Given the description of an element on the screen output the (x, y) to click on. 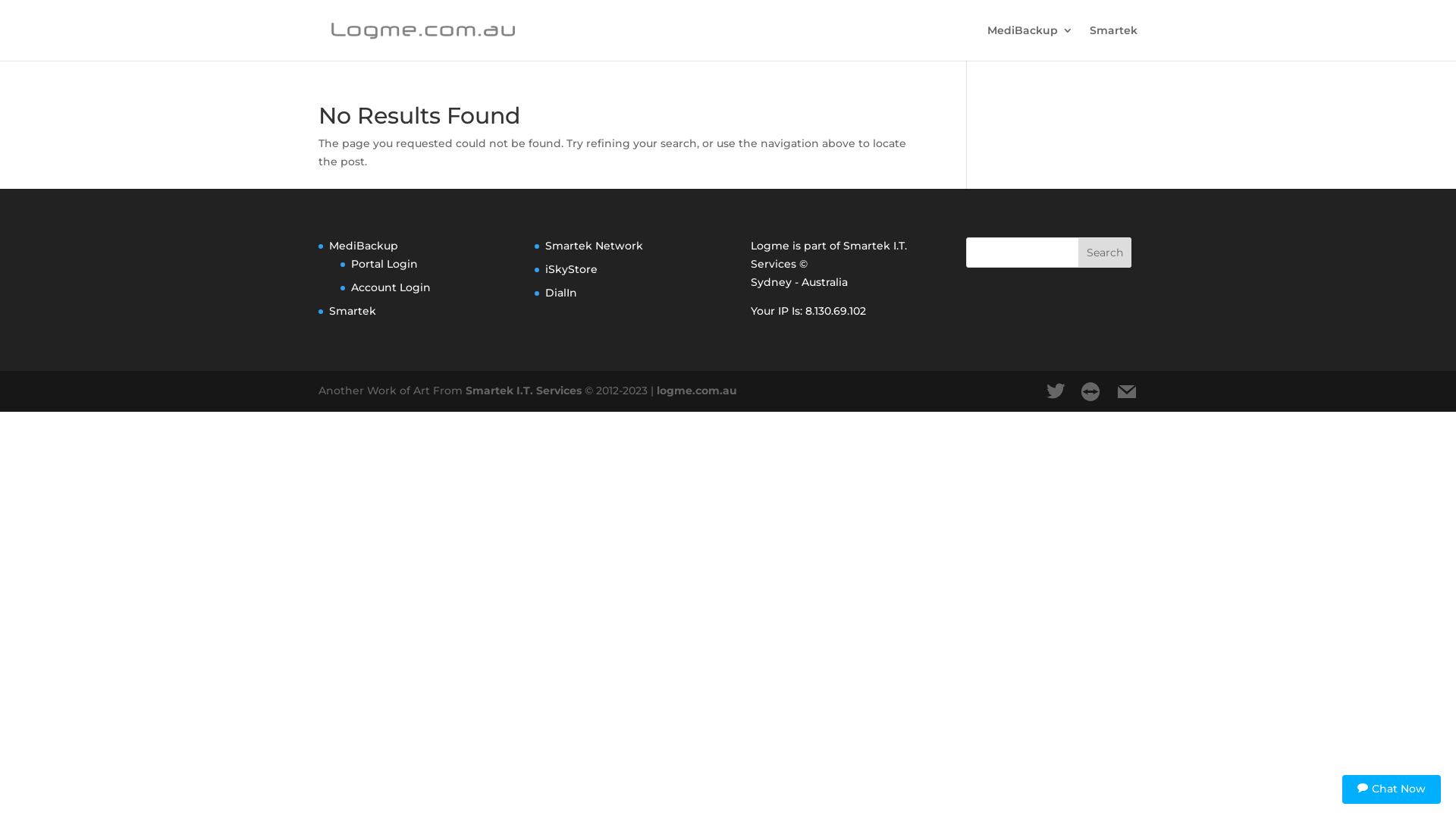
Portal Login Element type: text (384, 263)
DialIn Element type: text (561, 292)
MediBackup Element type: text (1030, 42)
Smartek Element type: text (352, 310)
iSkyStore Element type: text (571, 269)
Search Element type: text (1104, 252)
Account Login Element type: text (390, 287)
Smartek Element type: text (1113, 42)
MediBackup Element type: text (363, 245)
Smartek I.T. Services Element type: text (523, 390)
Smartek Network Element type: text (594, 245)
